Given the description of an element on the screen output the (x, y) to click on. 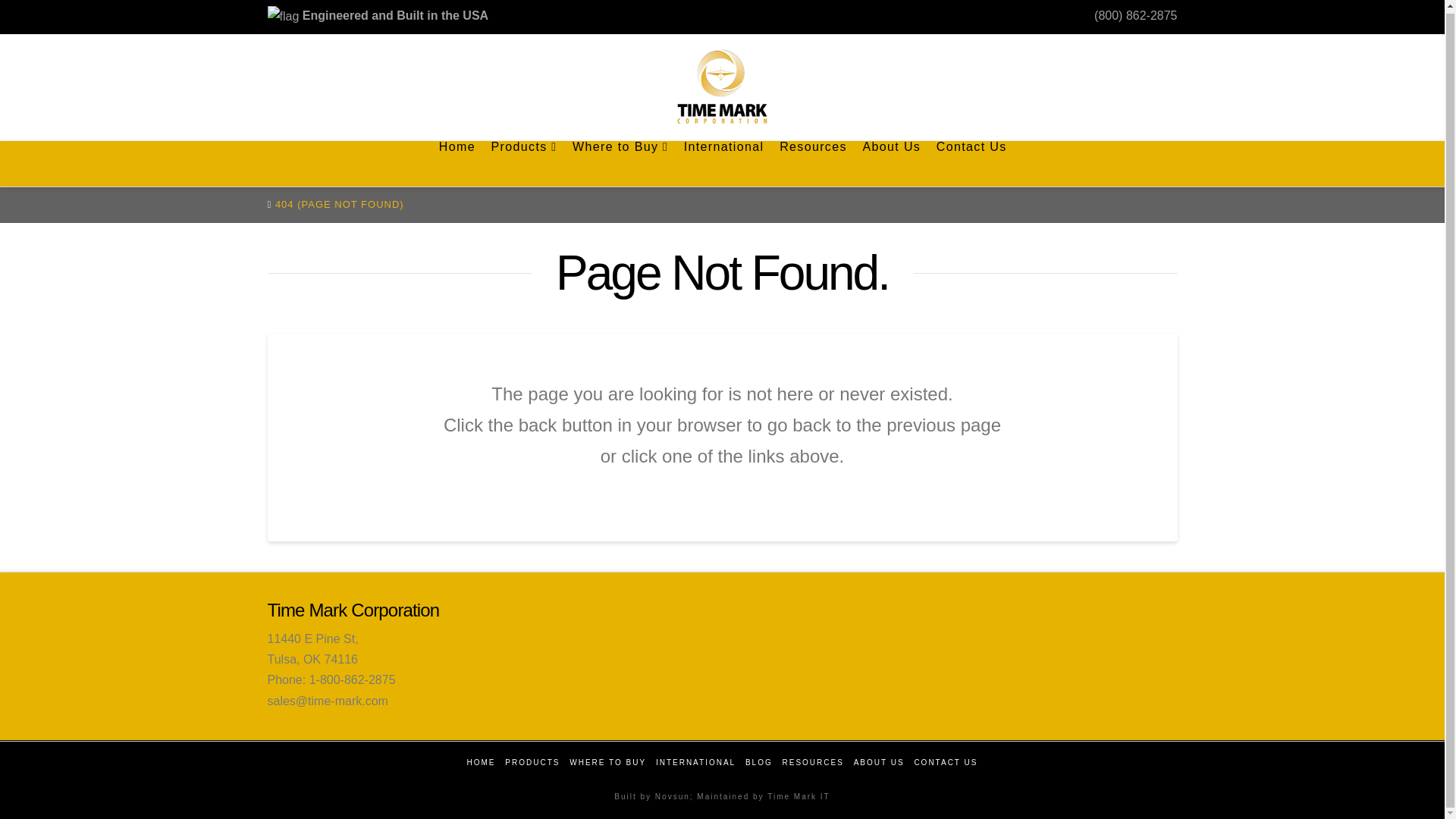
Resources (812, 163)
Where to Buy (619, 163)
Home (456, 163)
Contact Us (970, 163)
TimeMark Home (722, 86)
About Us (890, 163)
Products (523, 163)
Contact Us (970, 163)
International (723, 163)
